Given the description of an element on the screen output the (x, y) to click on. 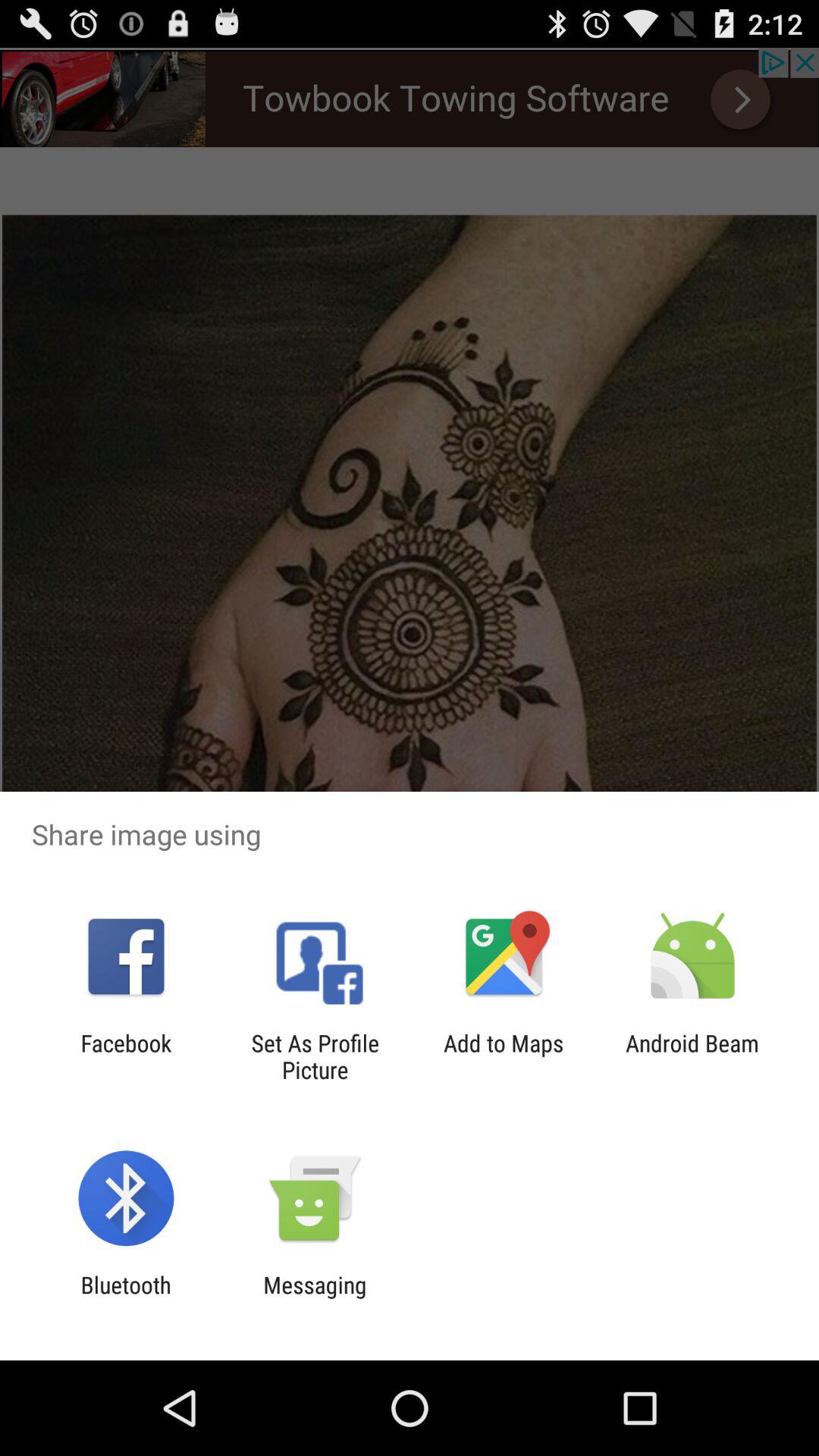
select facebook item (125, 1056)
